Given the description of an element on the screen output the (x, y) to click on. 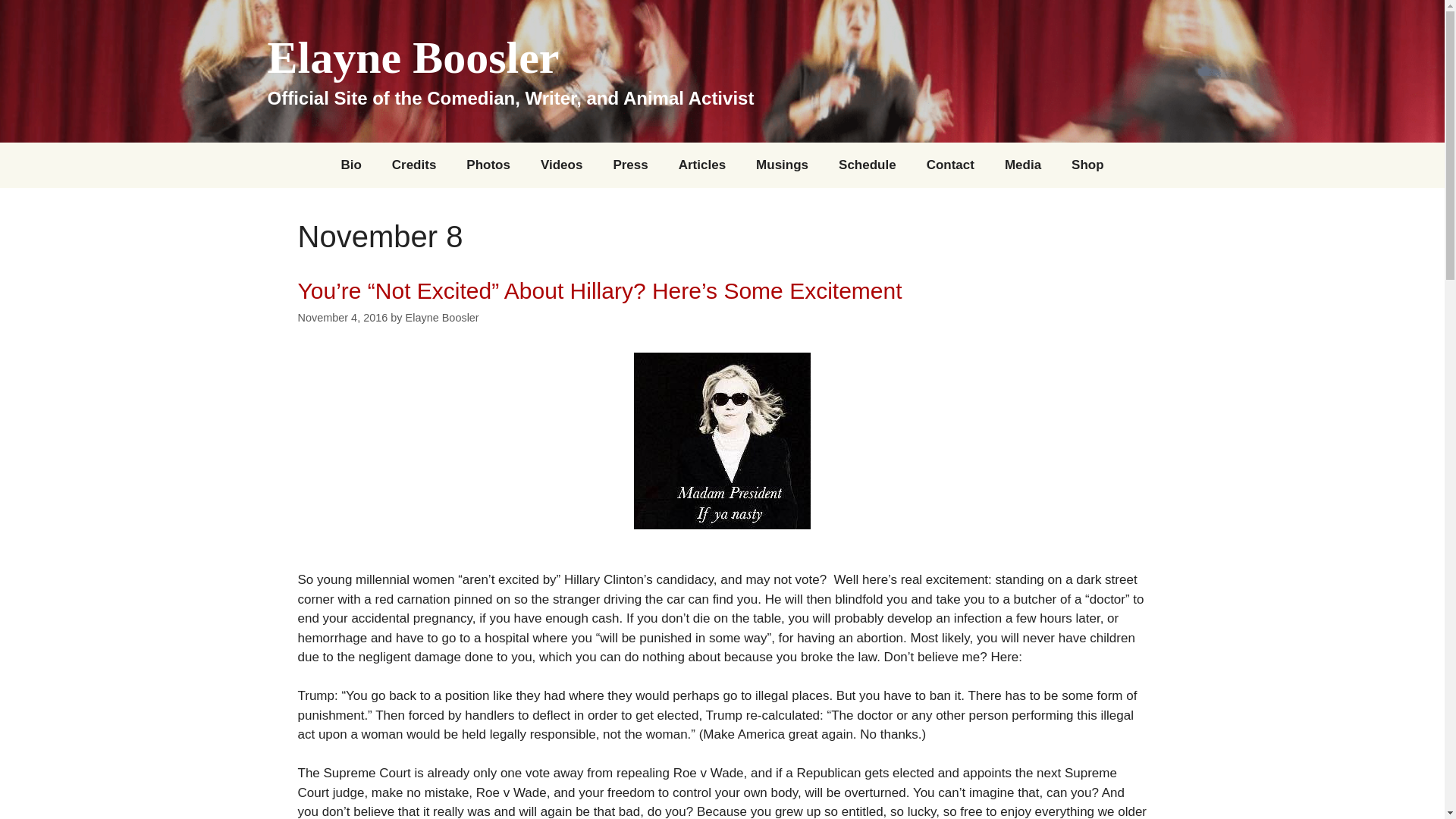
Schedule (867, 165)
Contact (950, 165)
You must be in prison if you have time to read this (702, 165)
Musings (782, 165)
Bio (349, 165)
Videos (560, 165)
Shop (1088, 165)
Articles (702, 165)
Forty Years of Bad Hair (488, 165)
Credits (414, 165)
Press (629, 165)
Photos (488, 165)
View all posts by Elayne Boosler (442, 317)
Elayne Boosler (412, 57)
Media (1023, 165)
